Given the description of an element on the screen output the (x, y) to click on. 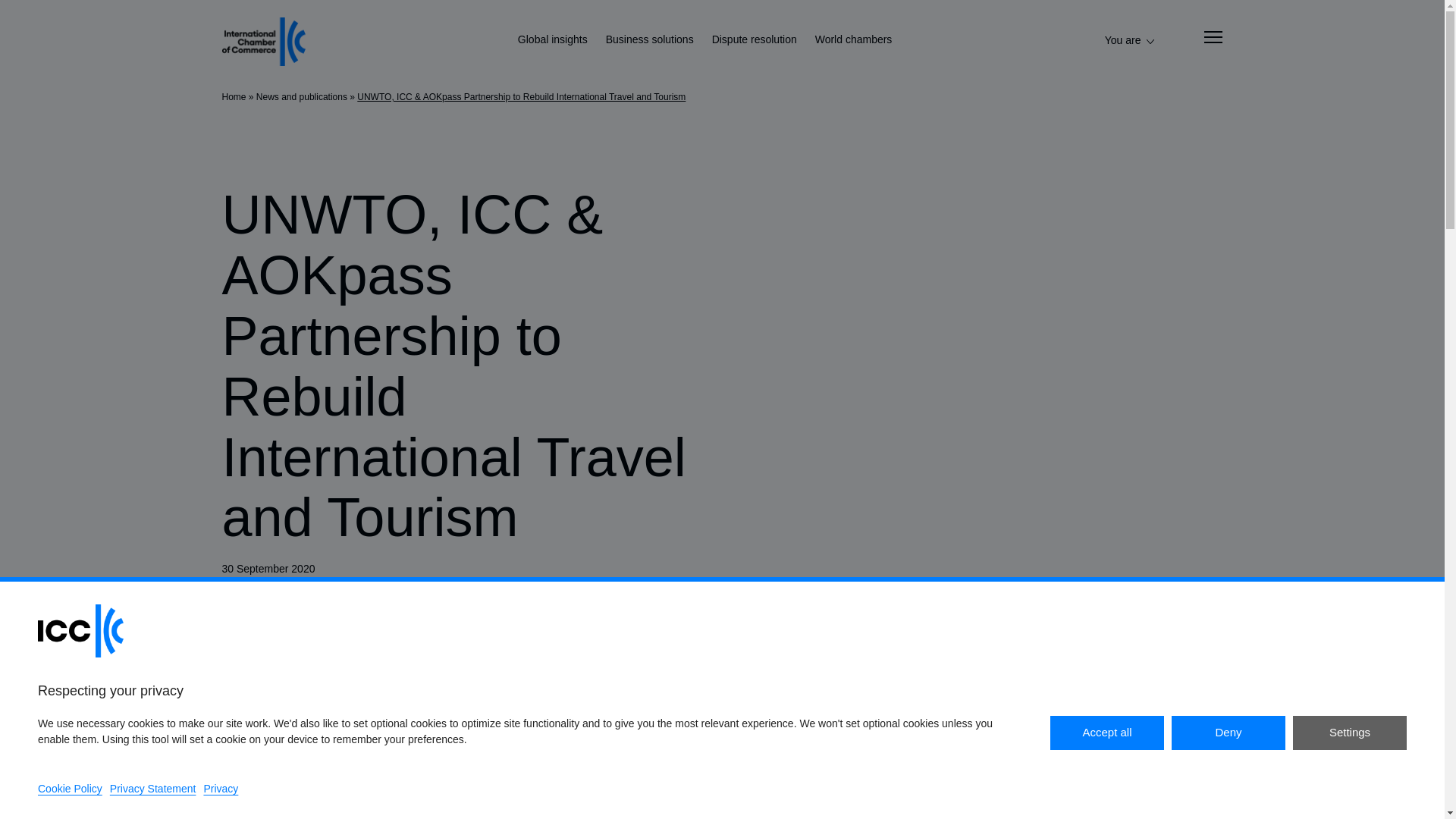
Cookie Policy (69, 788)
Settings (1349, 732)
Deny (1228, 732)
Privacy (220, 788)
Privacy Statement (153, 788)
Accept all (1106, 732)
ICC - International Chamber of Commerce (262, 41)
